Given the description of an element on the screen output the (x, y) to click on. 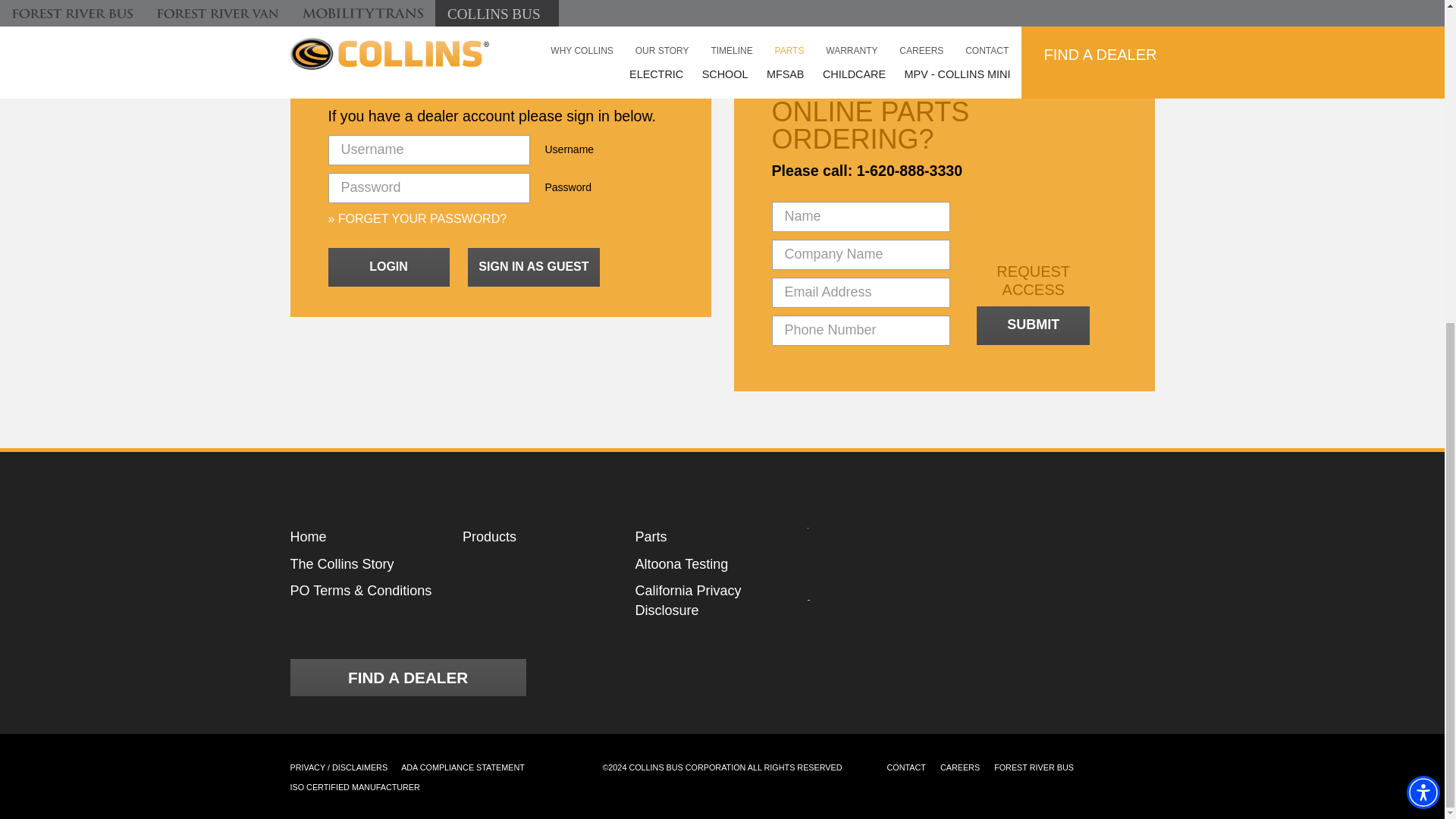
Home (364, 537)
Accessibility Menu (1422, 264)
Submit (1033, 324)
Login (387, 267)
SIGN IN AS GUEST (533, 267)
Login (387, 267)
The Collins Story (364, 564)
Submit (1033, 324)
Altoona Testing (709, 564)
Products (537, 537)
CONTACT (906, 767)
California Privacy Disclosure (709, 600)
FIND A DEALER (407, 677)
Parts (709, 537)
